Given the description of an element on the screen output the (x, y) to click on. 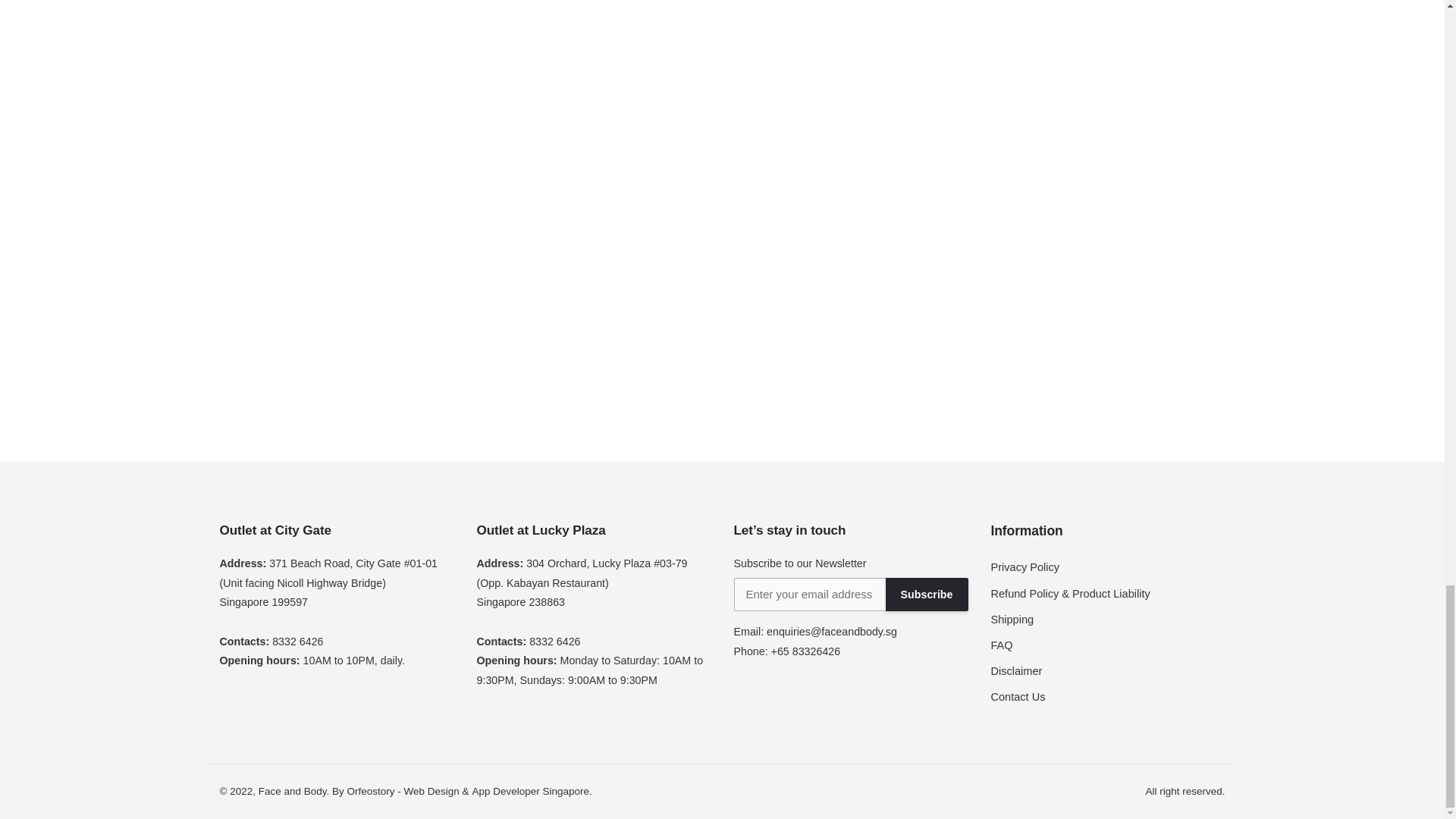
Website Design Company Singapore (432, 790)
Subscribe (926, 594)
Mobile App Developer Singapore (530, 790)
